Given the description of an element on the screen output the (x, y) to click on. 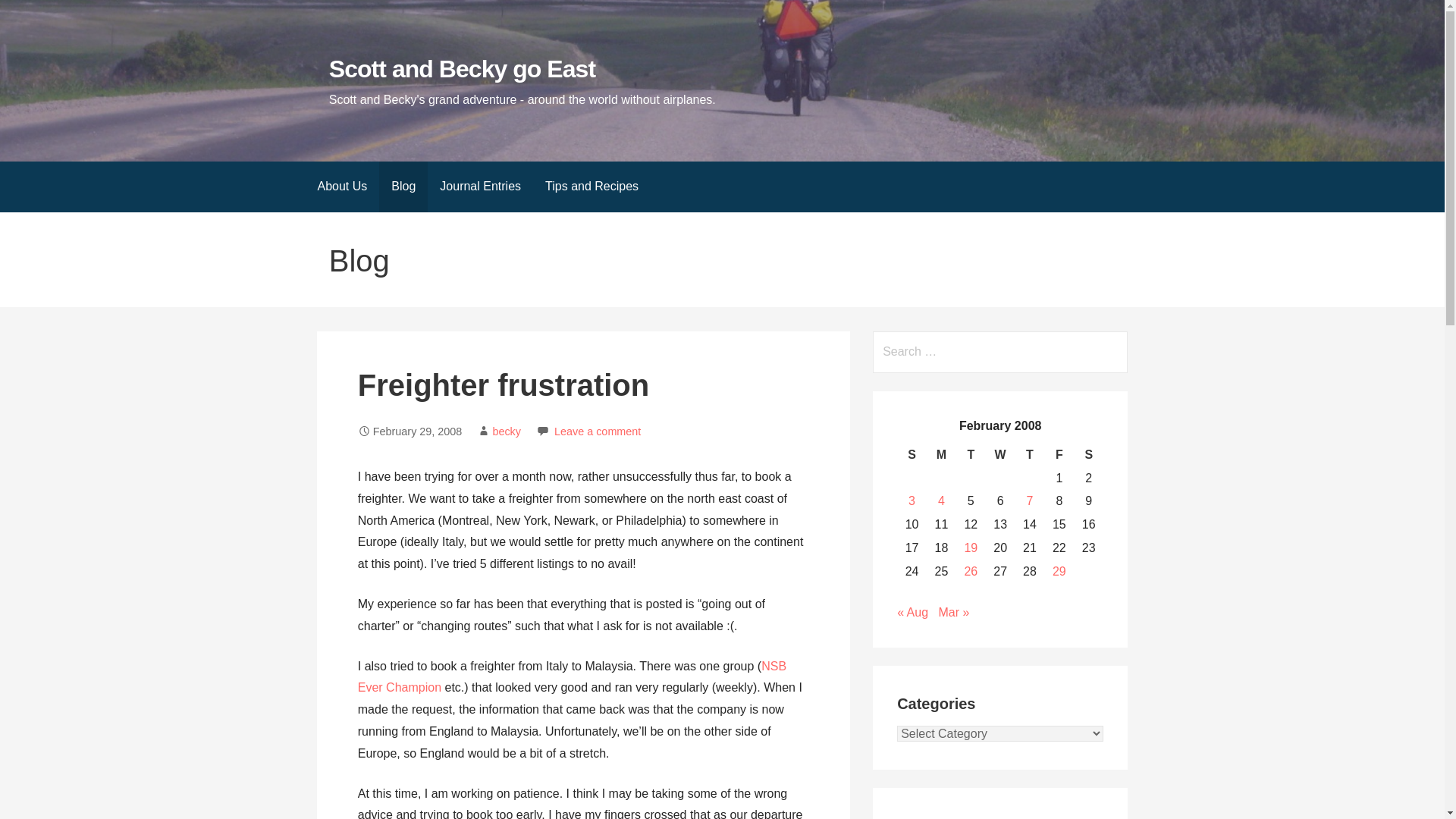
Wednesday (999, 454)
becky (506, 431)
29 (1058, 571)
Leave a comment (597, 431)
Tuesday (970, 454)
Sunday (911, 454)
Scott and Becky go East (462, 68)
Friday (1058, 454)
NSB Ever Champion (572, 677)
Thursday (1029, 454)
About Us (341, 186)
Monday (941, 454)
Saturday (1088, 454)
Search (31, 15)
Posts by becky (506, 431)
